Given the description of an element on the screen output the (x, y) to click on. 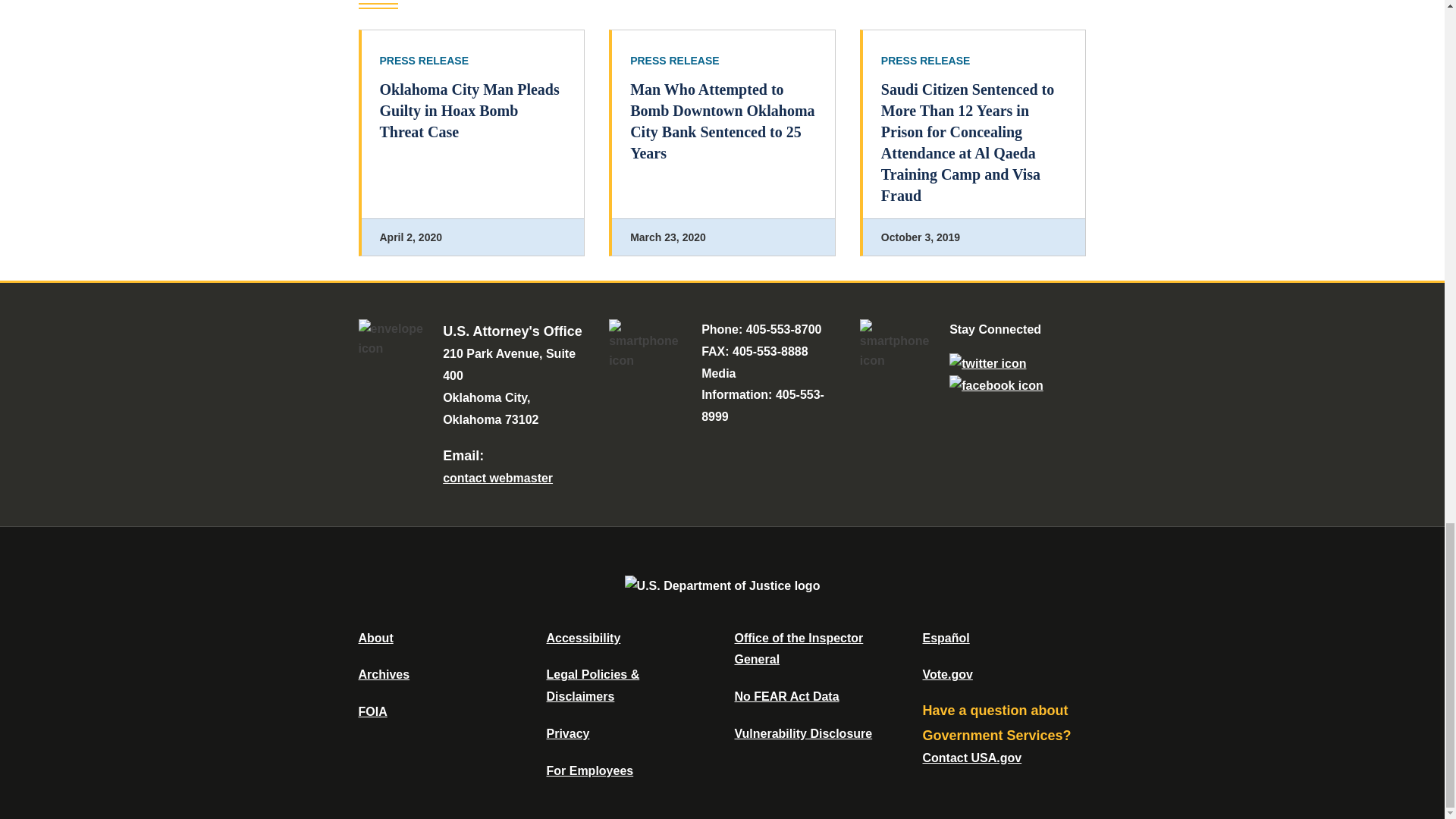
Data Posted Pursuant To The No Fear Act (785, 696)
Legal Policies and Disclaimers (592, 685)
Accessibility Statement (583, 637)
About DOJ (375, 637)
Department of Justice Archive (383, 674)
Office of Information Policy (372, 711)
For Employees (589, 770)
